Given the description of an element on the screen output the (x, y) to click on. 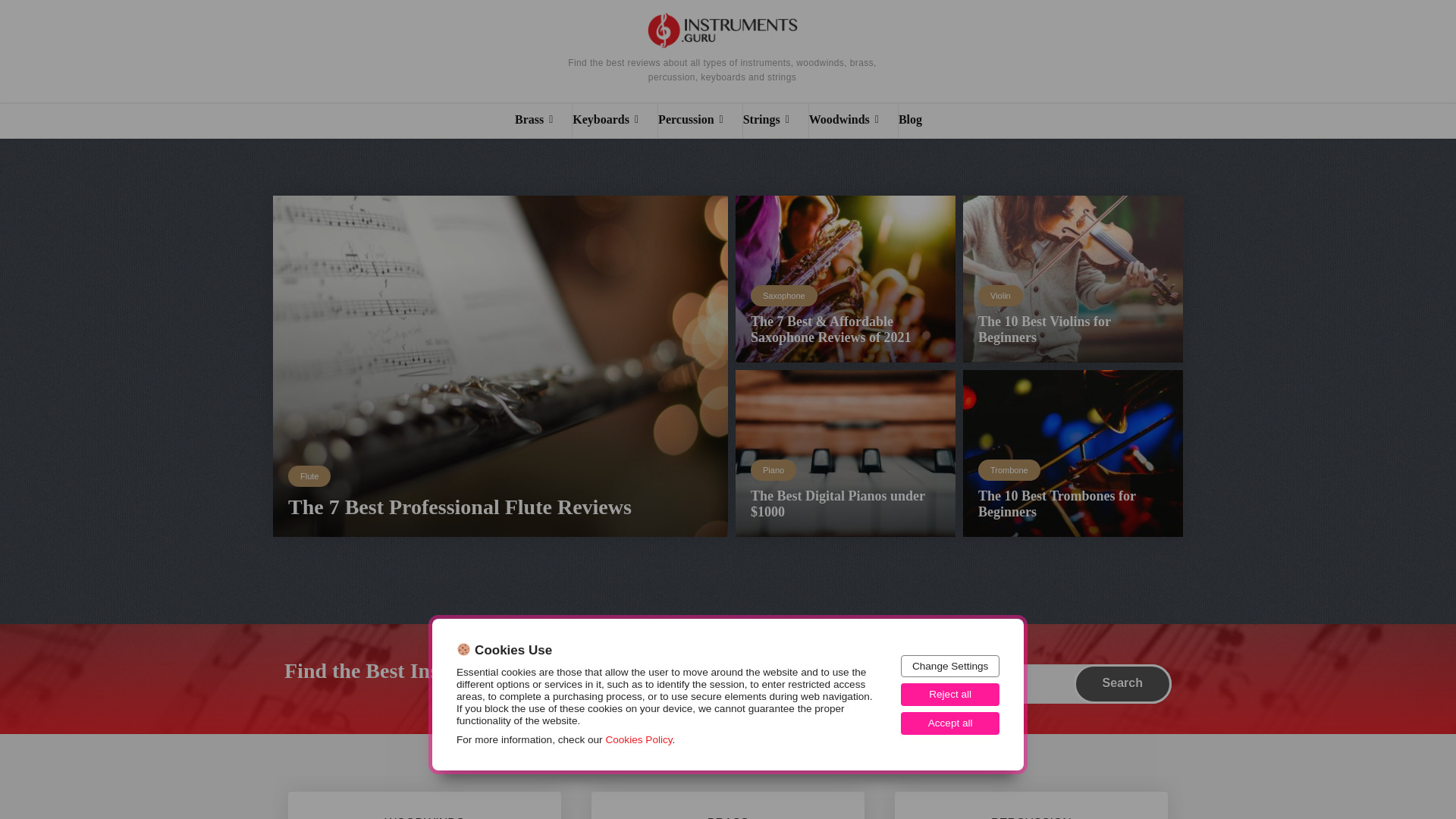
Woodwinds (853, 121)
Strings (775, 121)
Percussion (700, 121)
Keyboards (615, 121)
Brass (543, 121)
Blog (919, 121)
